Given the description of an element on the screen output the (x, y) to click on. 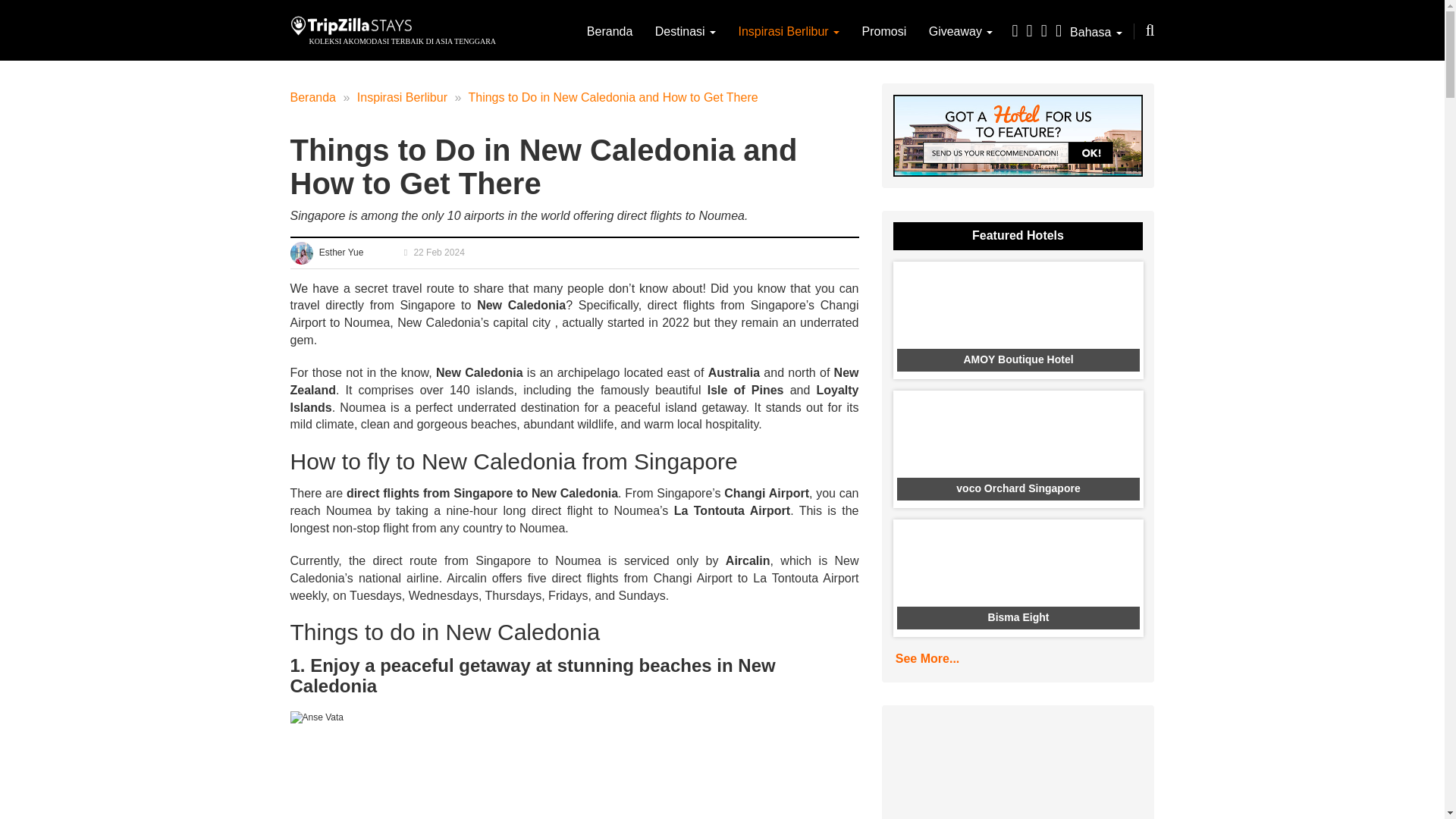
Promosi (884, 31)
Destinasi (685, 31)
Home (609, 31)
Giveaways (960, 31)
KOLEKSI AKOMODASI TERBAIK DI ASIA TENGGARA (402, 40)
Giveaway (960, 31)
Bahasa (1096, 31)
Destinasi (685, 31)
Beranda (609, 31)
Promotions (884, 31)
Language (1096, 31)
Stories (789, 31)
Inspirasi Berlibur (789, 31)
